Given the description of an element on the screen output the (x, y) to click on. 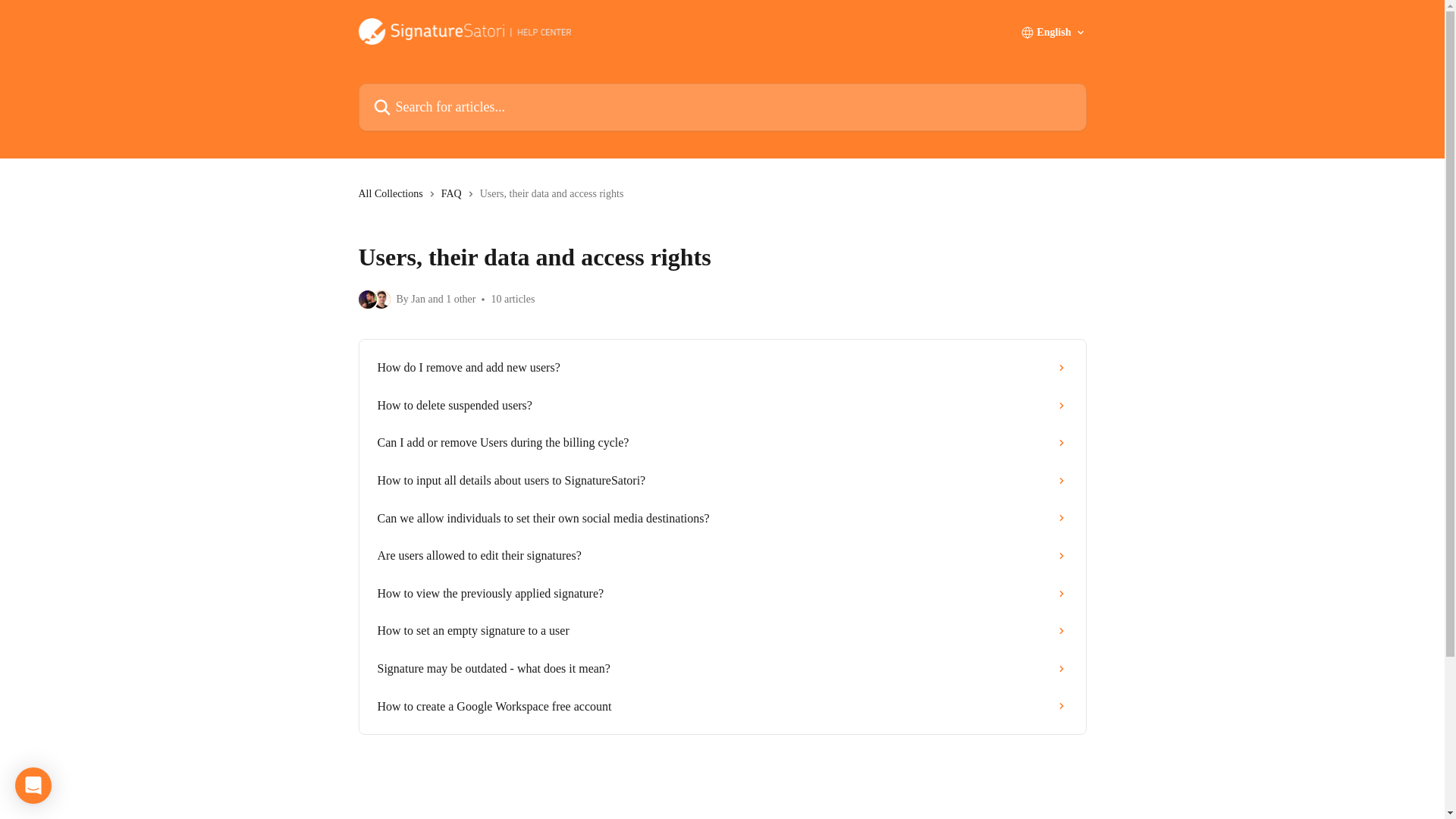
All Collections (393, 193)
How to create a Google Workspace free account (722, 706)
How to input all details about users to SignatureSatori? (722, 480)
FAQ (454, 193)
How to delete suspended users? (722, 405)
Are users allowed to edit their signatures? (722, 555)
Signature may be outdated - what does it mean? (722, 668)
How to set an empty signature to a user (722, 630)
How do I remove and add new users? (722, 367)
Can I add or remove Users during the billing cycle? (722, 442)
